Given the description of an element on the screen output the (x, y) to click on. 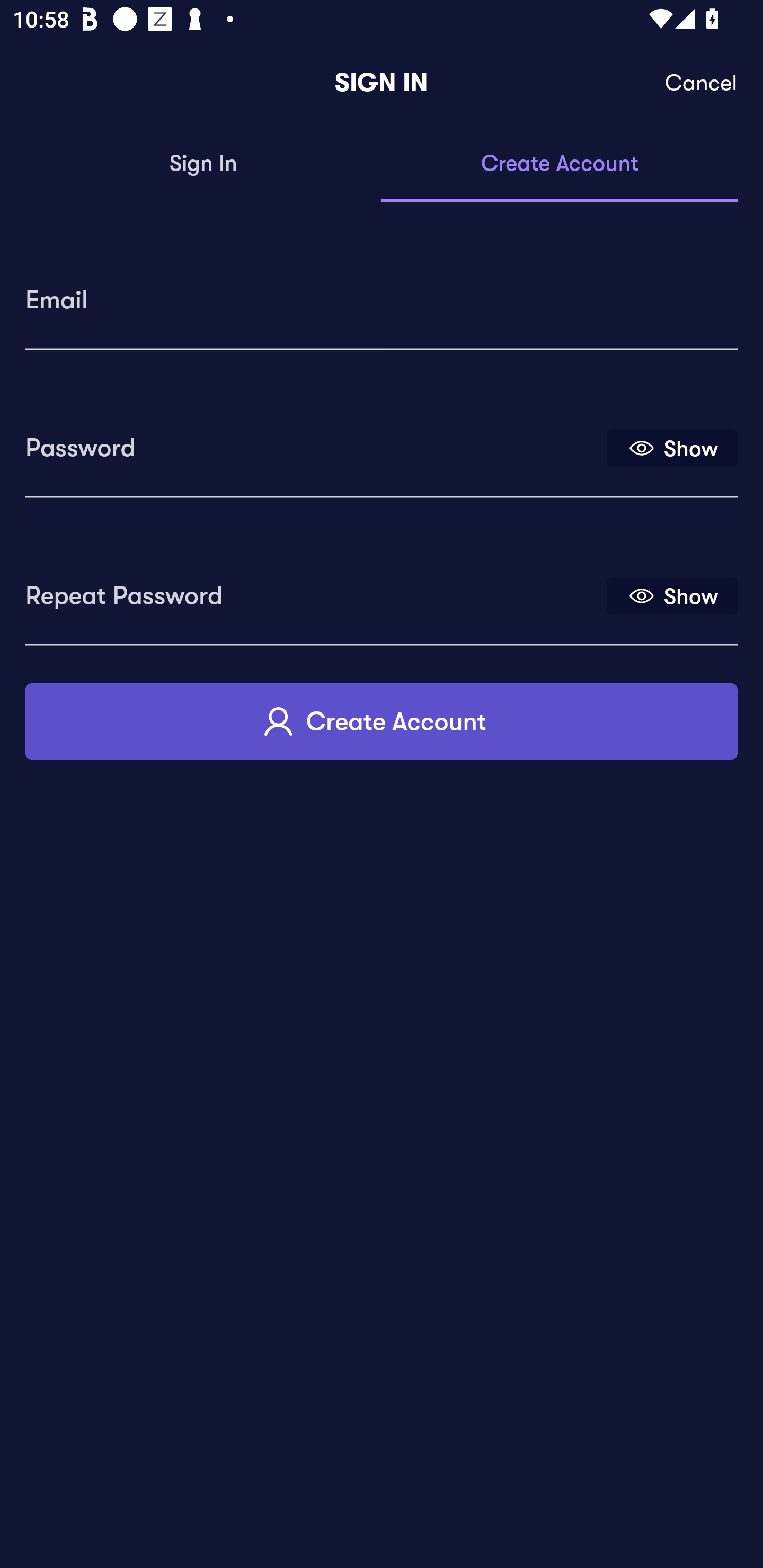
Cancel (701, 82)
Sign In (203, 164)
Create Account (559, 164)
Email (381, 293)
Password (314, 441)
Show Password Show (671, 447)
Repeat Password (314, 589)
Show Repeat Password Show (671, 595)
Create Account (381, 720)
